Given the description of an element on the screen output the (x, y) to click on. 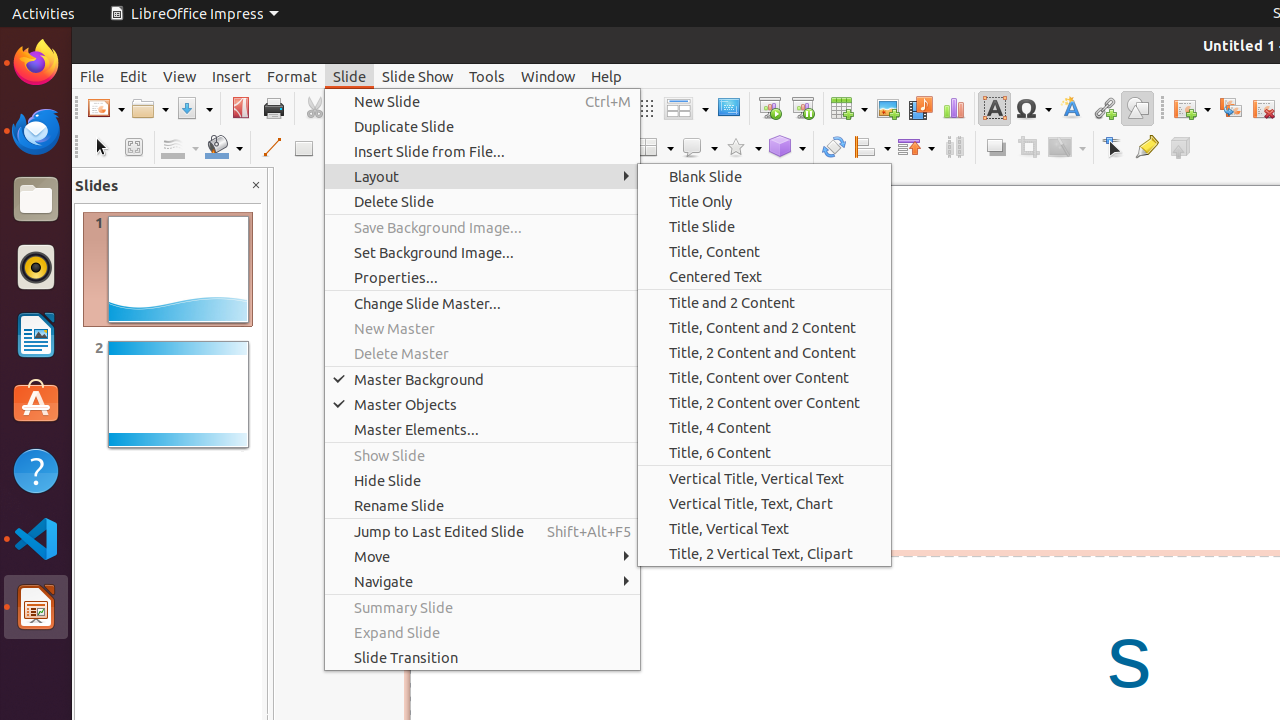
Title, Vertical Text Element type: menu-item (764, 528)
File Element type: menu (92, 76)
Title, Content Element type: menu-item (764, 251)
Title Only Element type: menu-item (764, 201)
Title, 4 Content Element type: menu-item (764, 427)
